Given the description of an element on the screen output the (x, y) to click on. 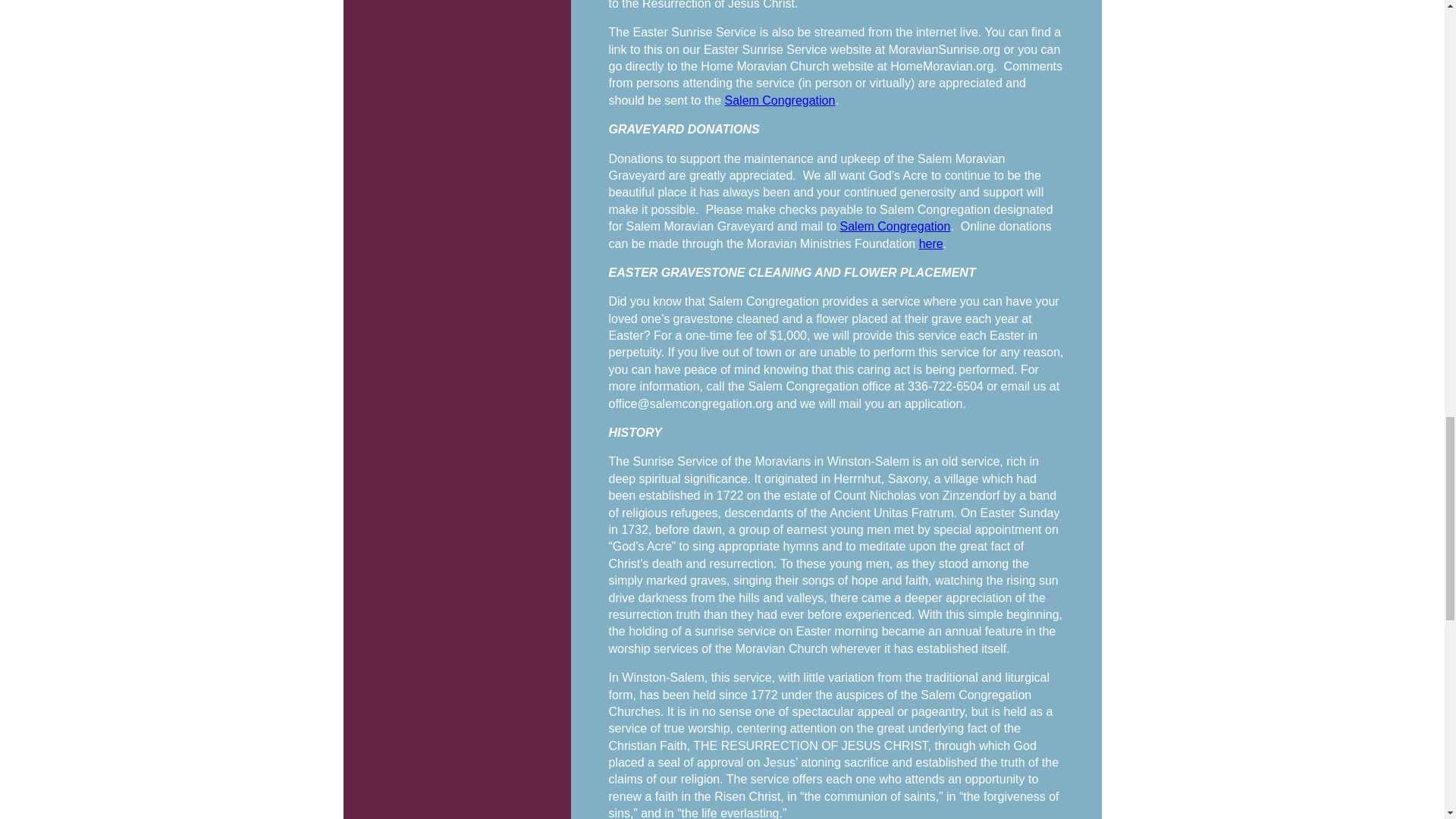
Salem Congregation (895, 226)
Salem Congregation (780, 100)
here (930, 243)
